Given the description of an element on the screen output the (x, y) to click on. 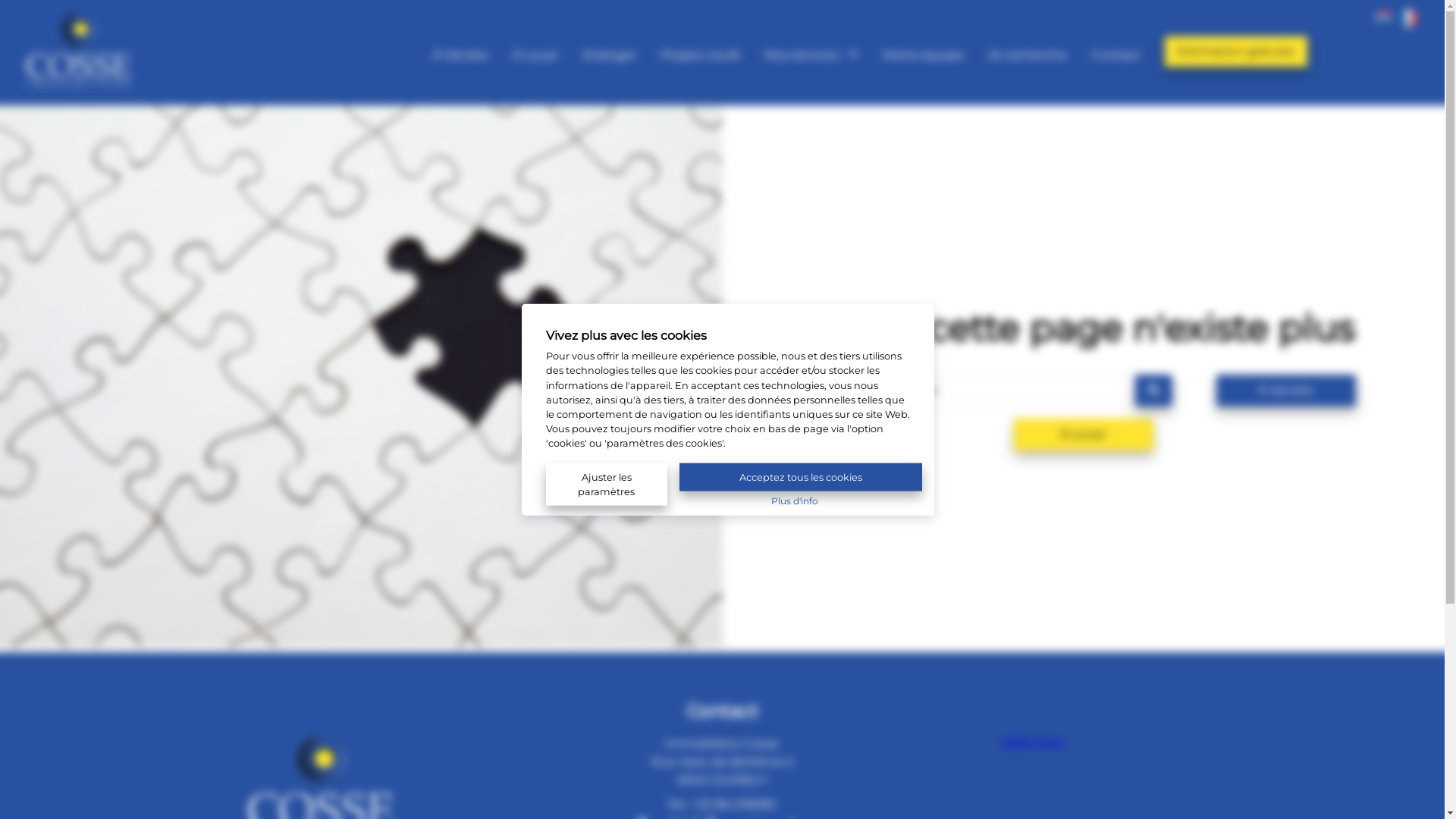
Acceptez tous les cookies Element type: text (800, 476)
Plus d'info Element type: text (794, 499)
Contact Element type: text (1115, 51)
Estimation gratuite Element type: text (1235, 50)
+32 86 218080 Element type: text (733, 804)
Je recherche Element type: text (1027, 51)
Projets neufs Element type: text (700, 51)
Estimation gratuite Element type: text (1235, 51)
Etranger Element type: text (609, 51)
Go to the homepage Element type: hover (79, 83)
086 21 80 80 Element type: text (1375, 52)
Nos services Element type: text (811, 52)
